Given the description of an element on the screen output the (x, y) to click on. 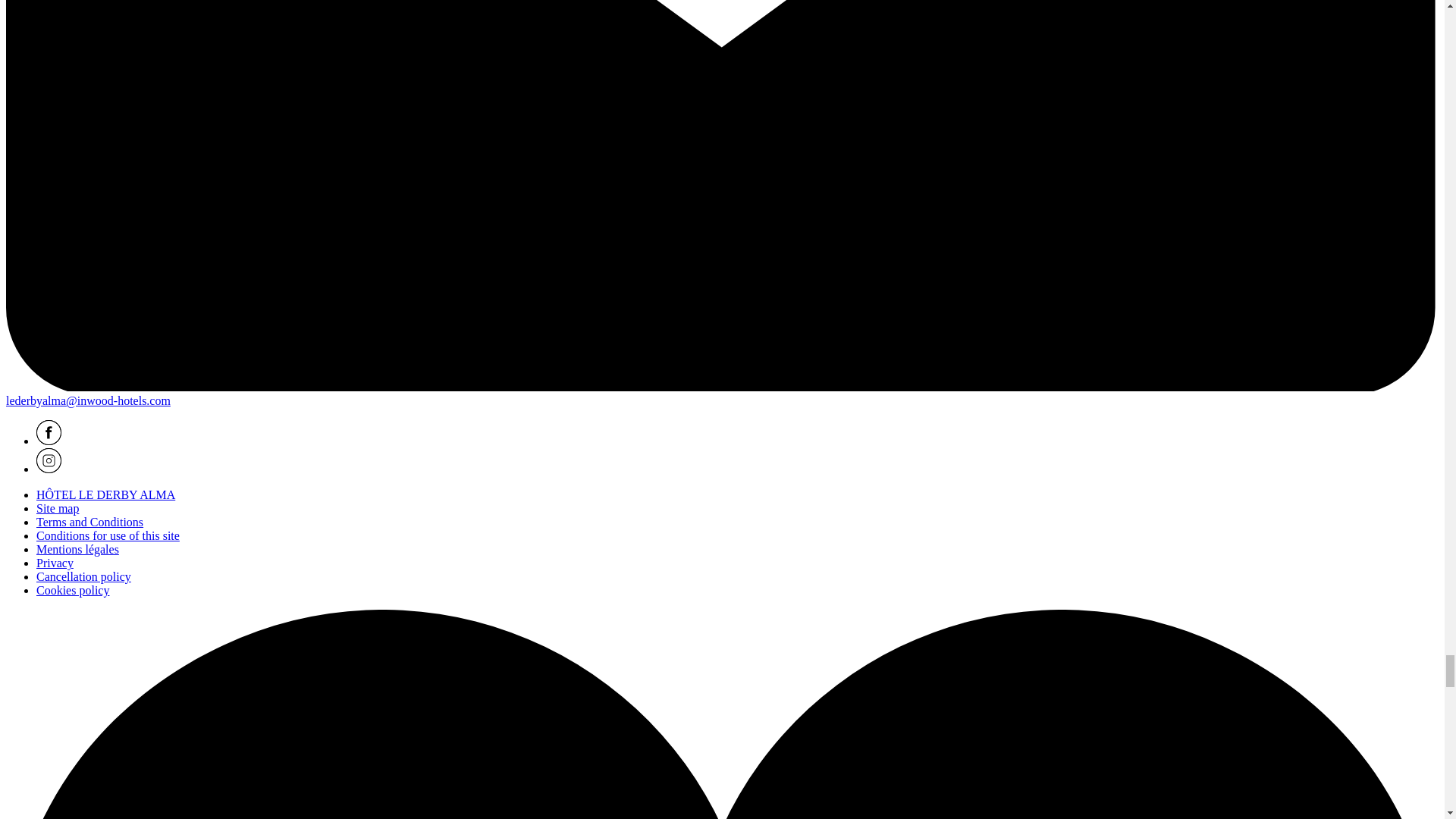
Cancellation policy (83, 576)
Conditions for use of this site (107, 535)
Terms and Conditions (89, 521)
Site map (57, 508)
Privacy (55, 562)
